Given the description of an element on the screen output the (x, y) to click on. 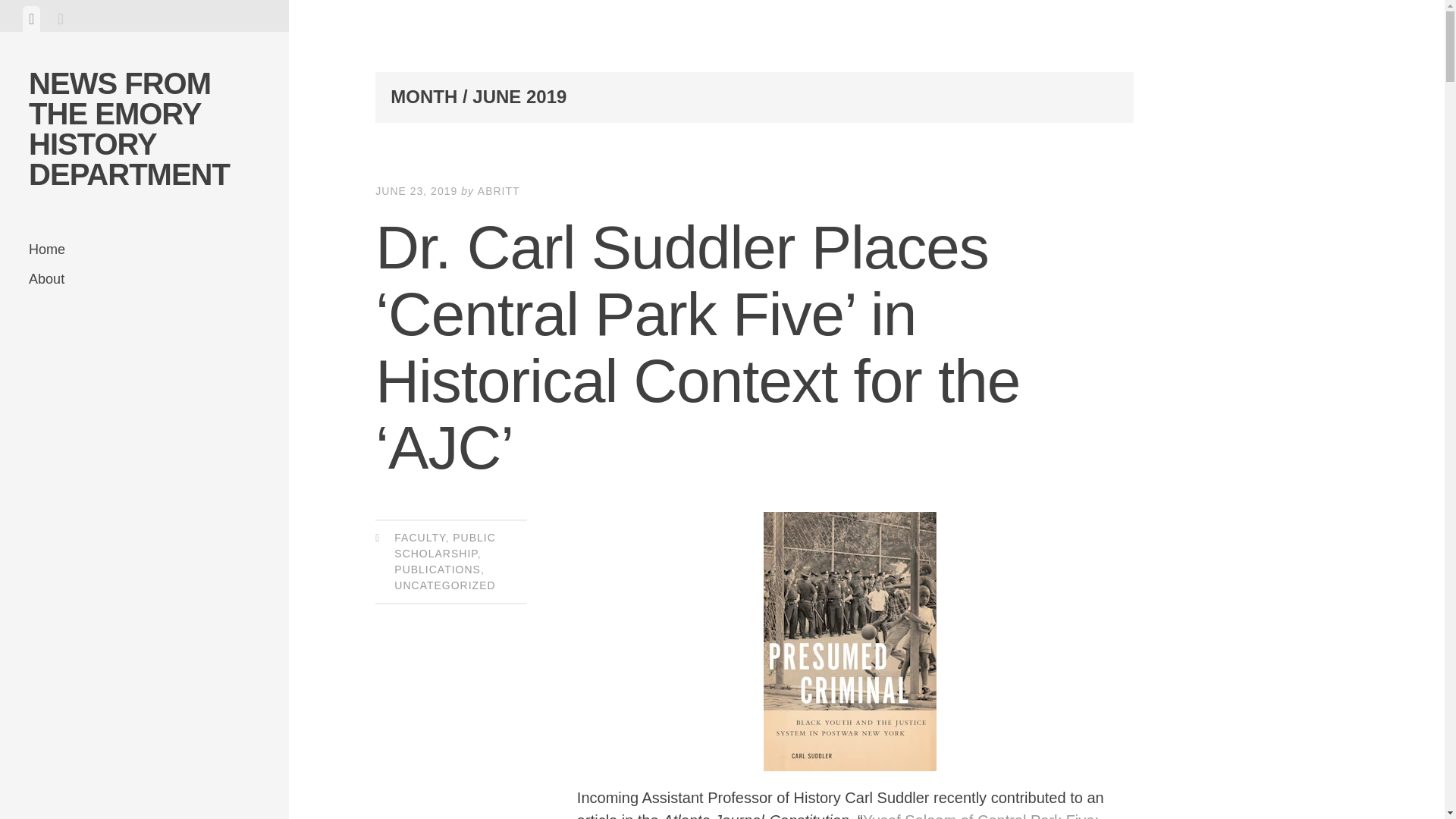
About (144, 279)
NEWS FROM THE EMORY HISTORY DEPARTMENT (129, 128)
Home (144, 249)
